Given the description of an element on the screen output the (x, y) to click on. 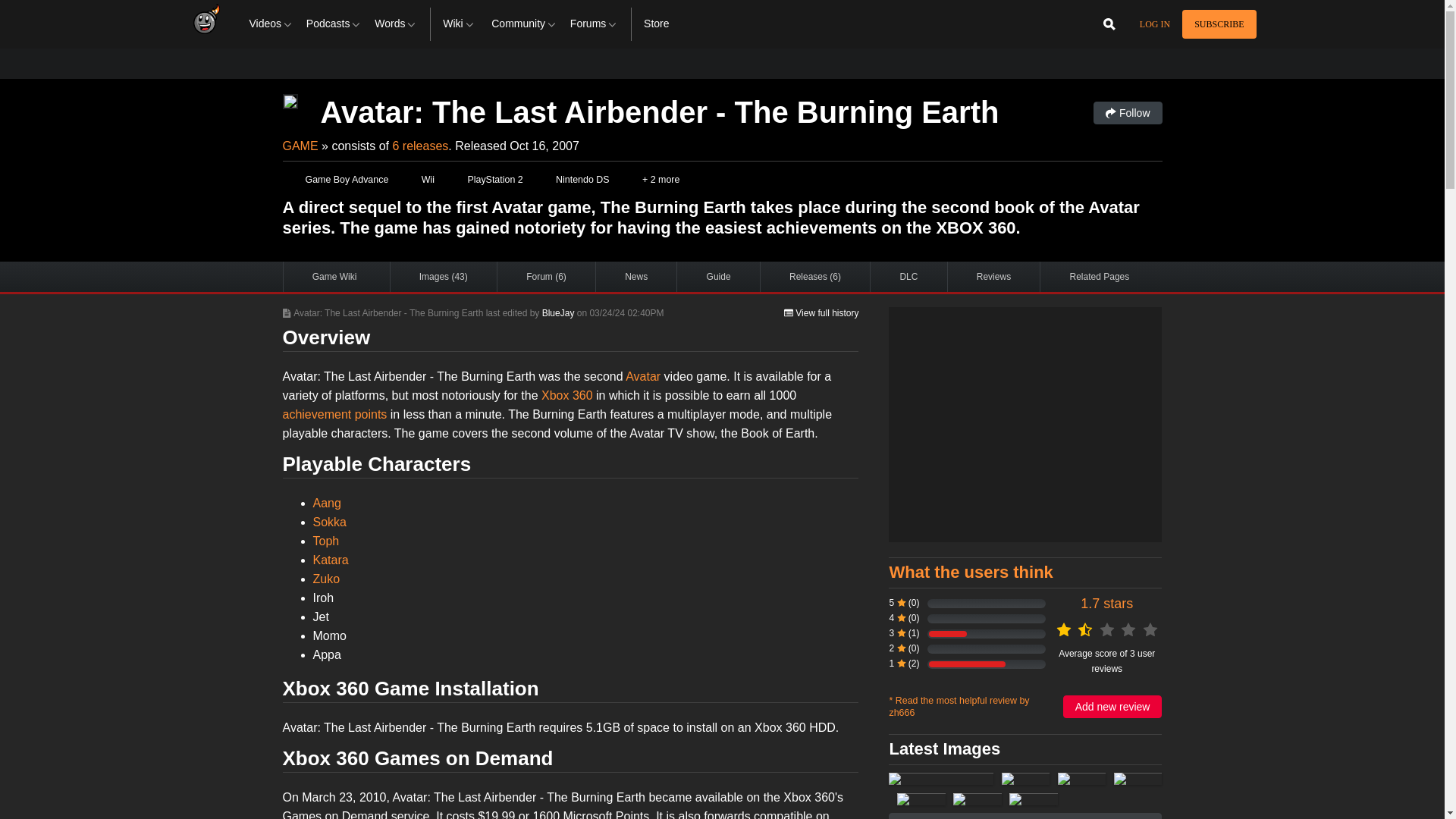
Podcasts (333, 24)
Words (395, 24)
Videos (271, 24)
